Given the description of an element on the screen output the (x, y) to click on. 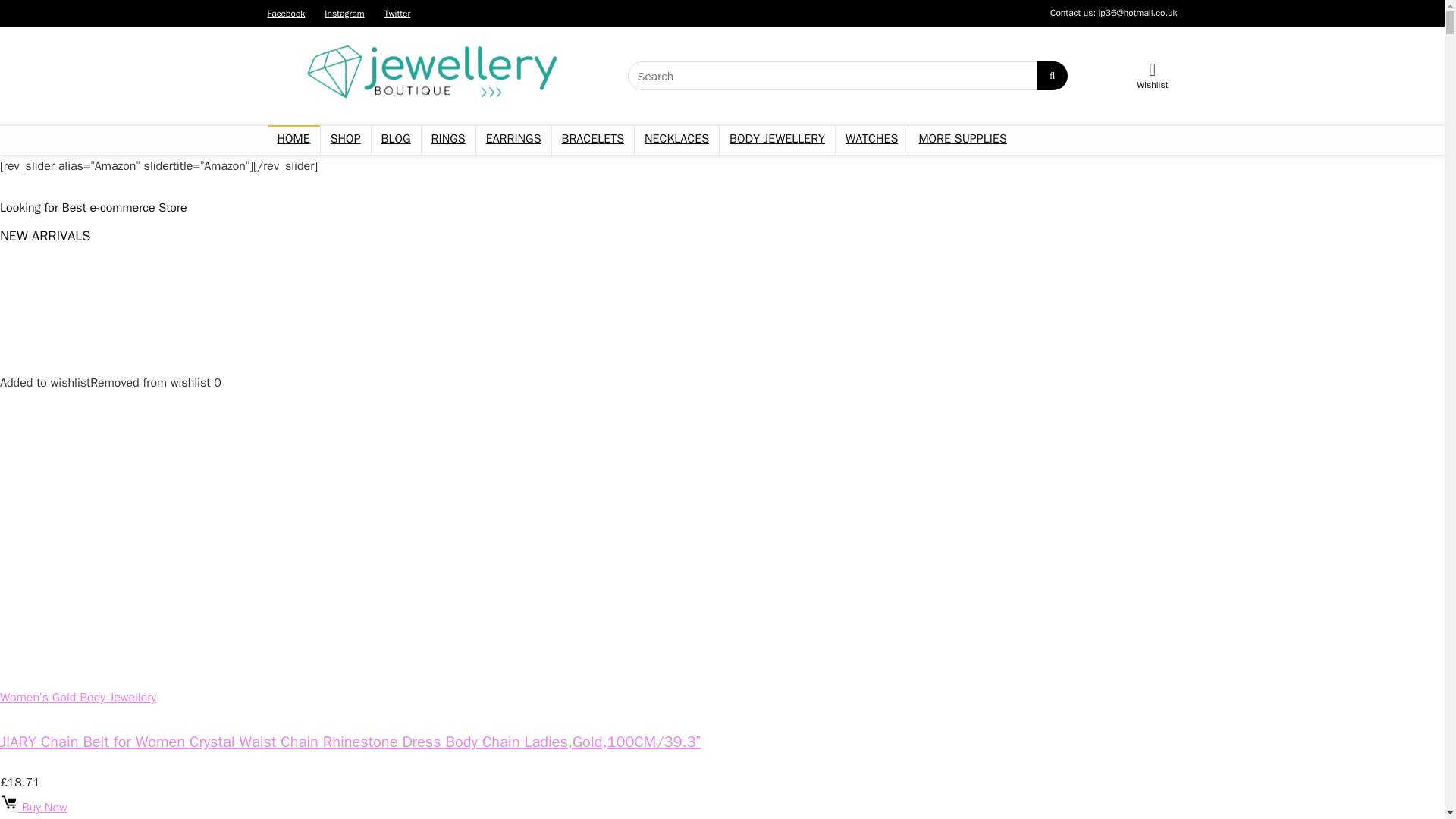
BLOG (395, 140)
RINGS (449, 140)
Buy Now (33, 807)
EARRINGS (513, 140)
Twitter (397, 13)
BRACELETS (592, 140)
Facebook (285, 13)
MORE SUPPLIES (962, 140)
WATCHES (871, 140)
BODY JEWELLERY (776, 140)
NECKLACES (676, 140)
SHOP (345, 140)
Instagram (344, 13)
HOME (292, 140)
